Given the description of an element on the screen output the (x, y) to click on. 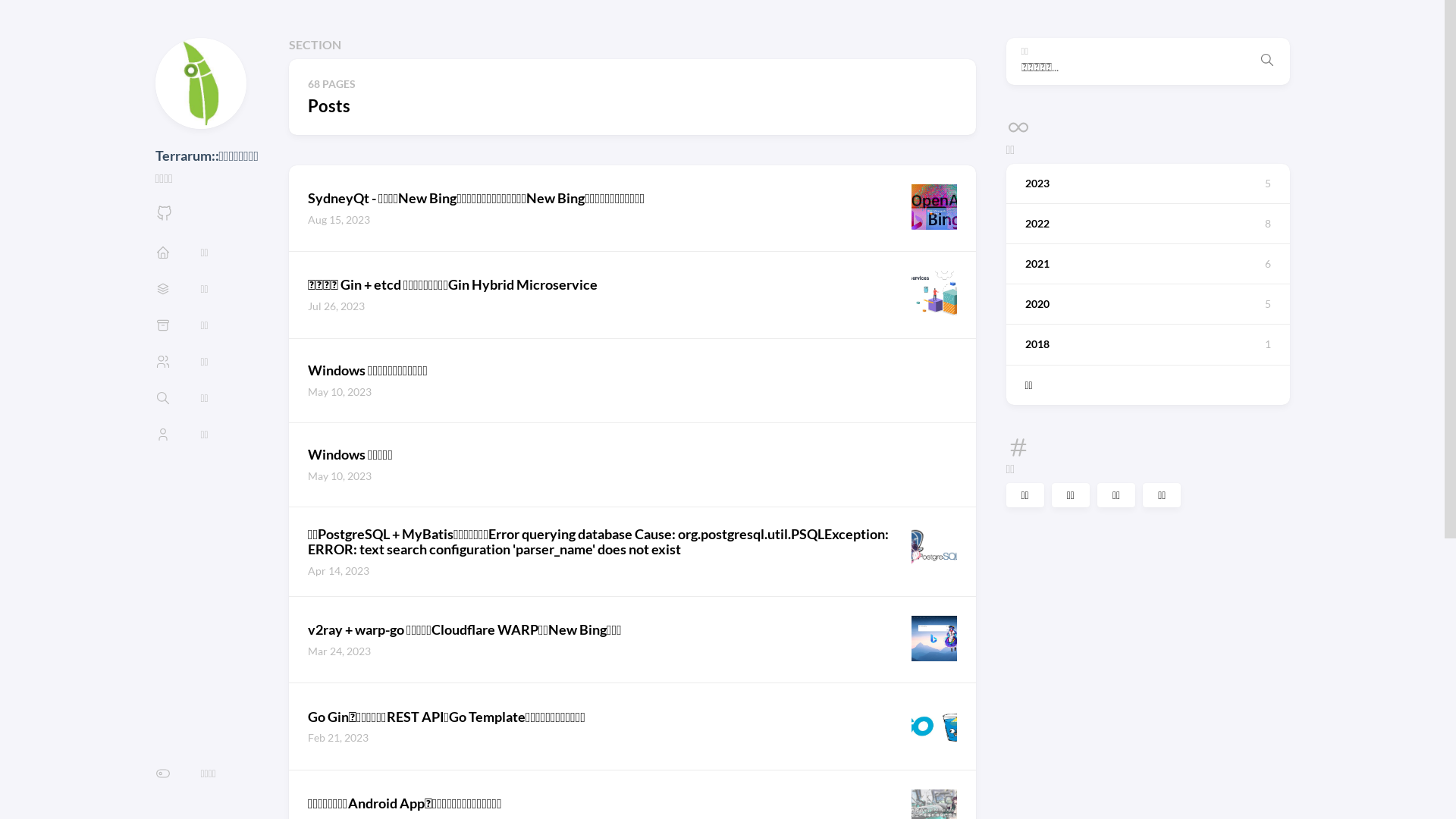
2018
1 Element type: text (1147, 344)
2020
5 Element type: text (1147, 303)
2023
5 Element type: text (1147, 183)
2021
6 Element type: text (1147, 263)
GitHub Element type: hover (163, 217)
2022
8 Element type: text (1147, 223)
